Given the description of an element on the screen output the (x, y) to click on. 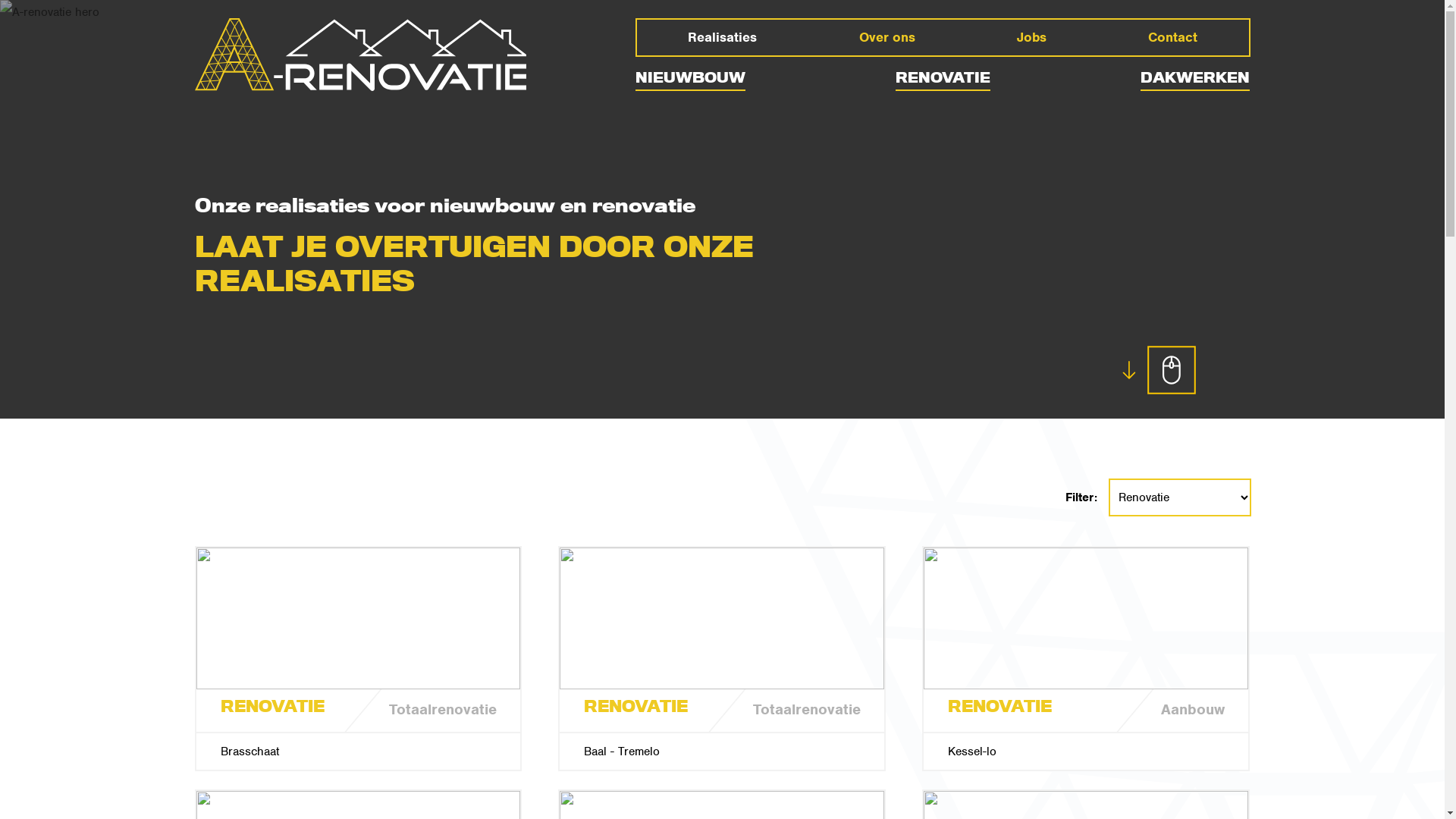
Jobs Element type: text (1031, 37)
RENOVATIE Element type: text (942, 80)
Realisaties Element type: text (722, 37)
Contact Element type: text (1172, 37)
Over ons Element type: text (886, 37)
RENOVATIE
Totaalrenovatie
Baal - Tremelo Element type: text (721, 658)
DAKWERKEN Element type: text (1194, 80)
NIEUWBOUW Element type: text (690, 80)
RENOVATIE
Totaalrenovatie
Brasschaat Element type: text (357, 658)
RENOVATIE
Aanbouw
Kessel-lo Element type: text (1085, 658)
